Given the description of an element on the screen output the (x, y) to click on. 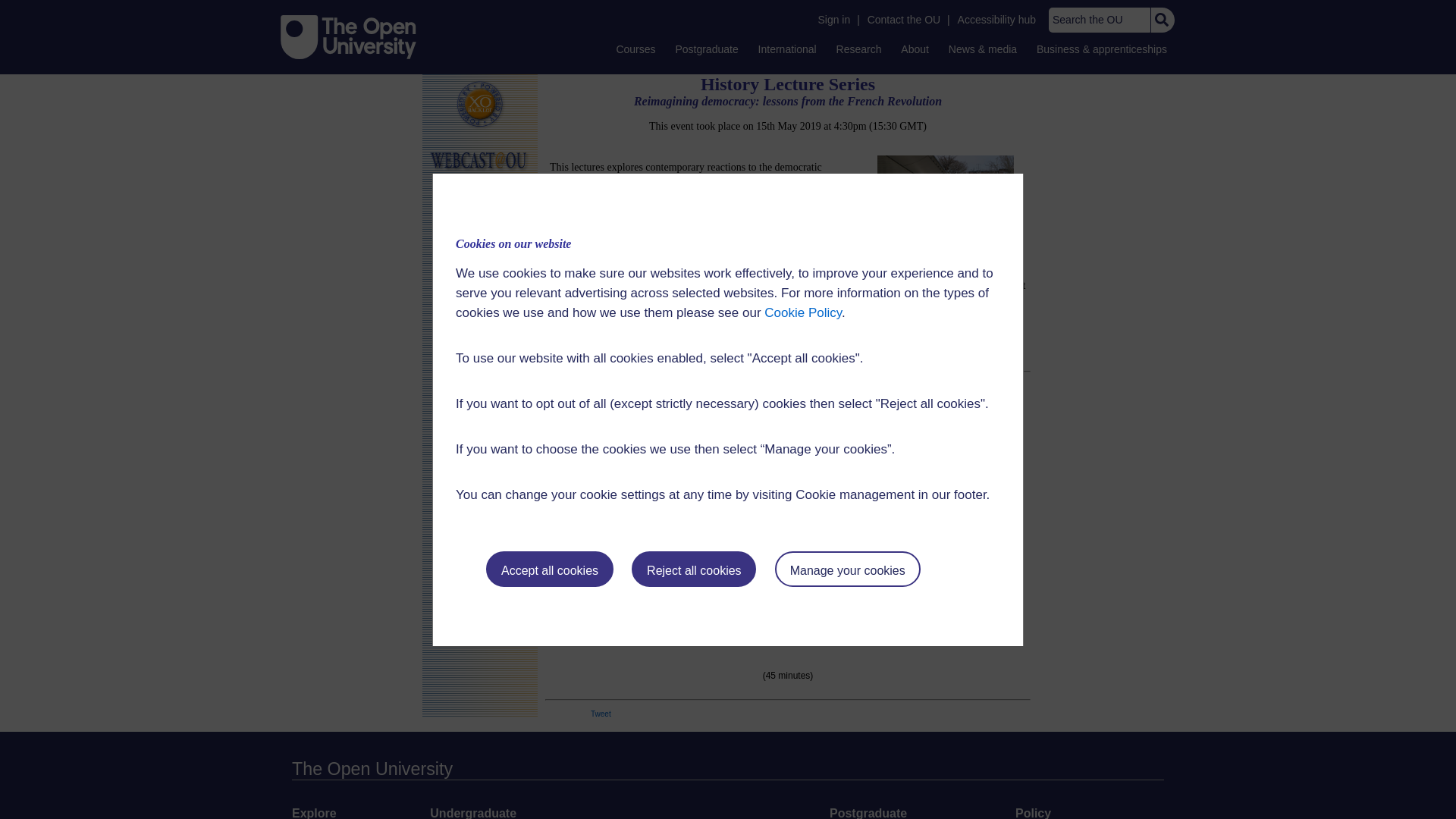
Postgraduate (705, 49)
Courses (635, 49)
Accessibility hub (997, 19)
International (787, 49)
The Open University (348, 36)
Contact the OU (903, 19)
Reject all cookies (693, 569)
Manage your cookies (847, 569)
Search (1161, 19)
Research (858, 49)
Search (1161, 19)
Cookie Policy (802, 312)
About (914, 49)
Accept all cookies (549, 569)
